Given the description of an element on the screen output the (x, y) to click on. 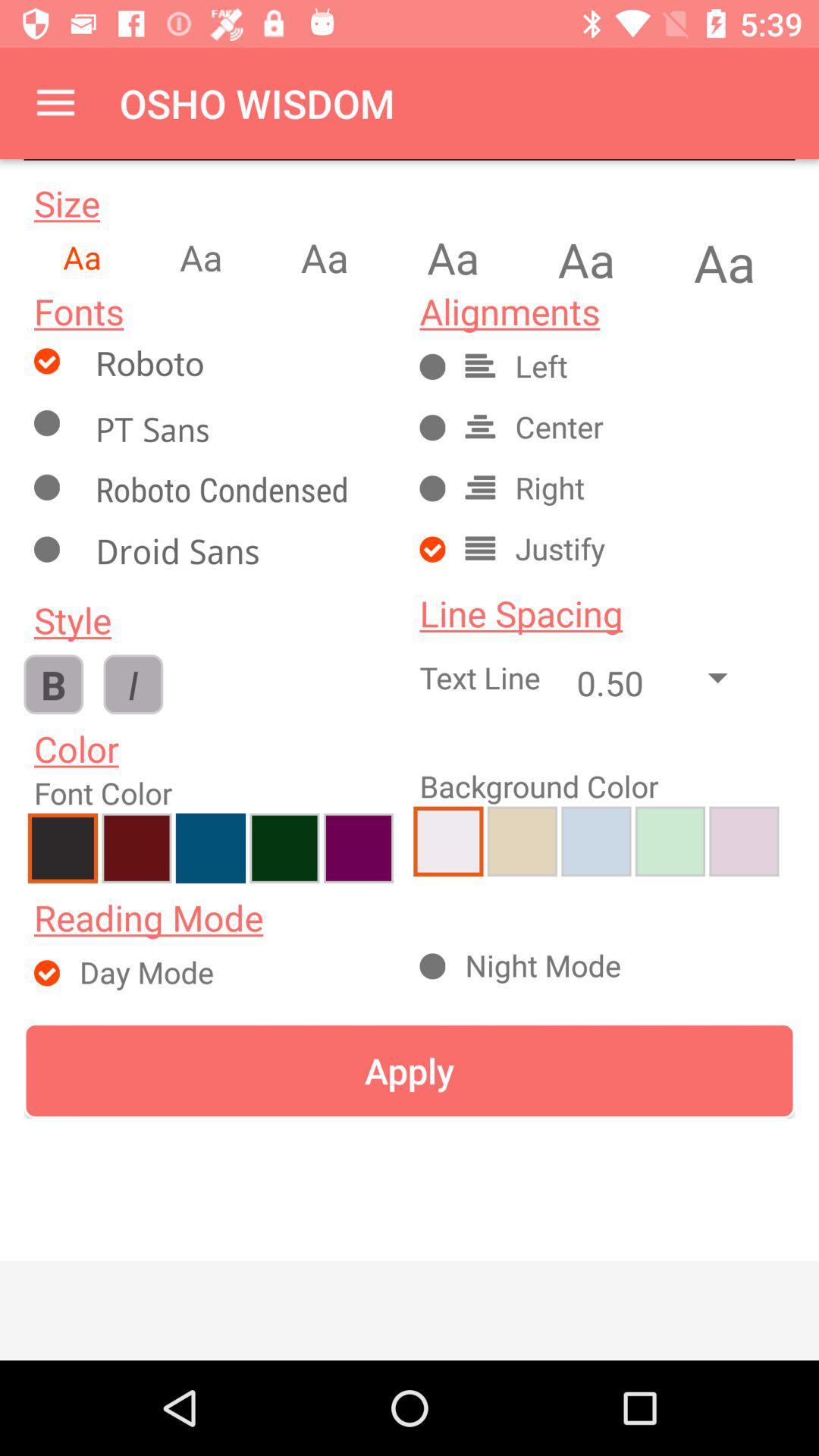
press icon below the style (133, 684)
